Given the description of an element on the screen output the (x, y) to click on. 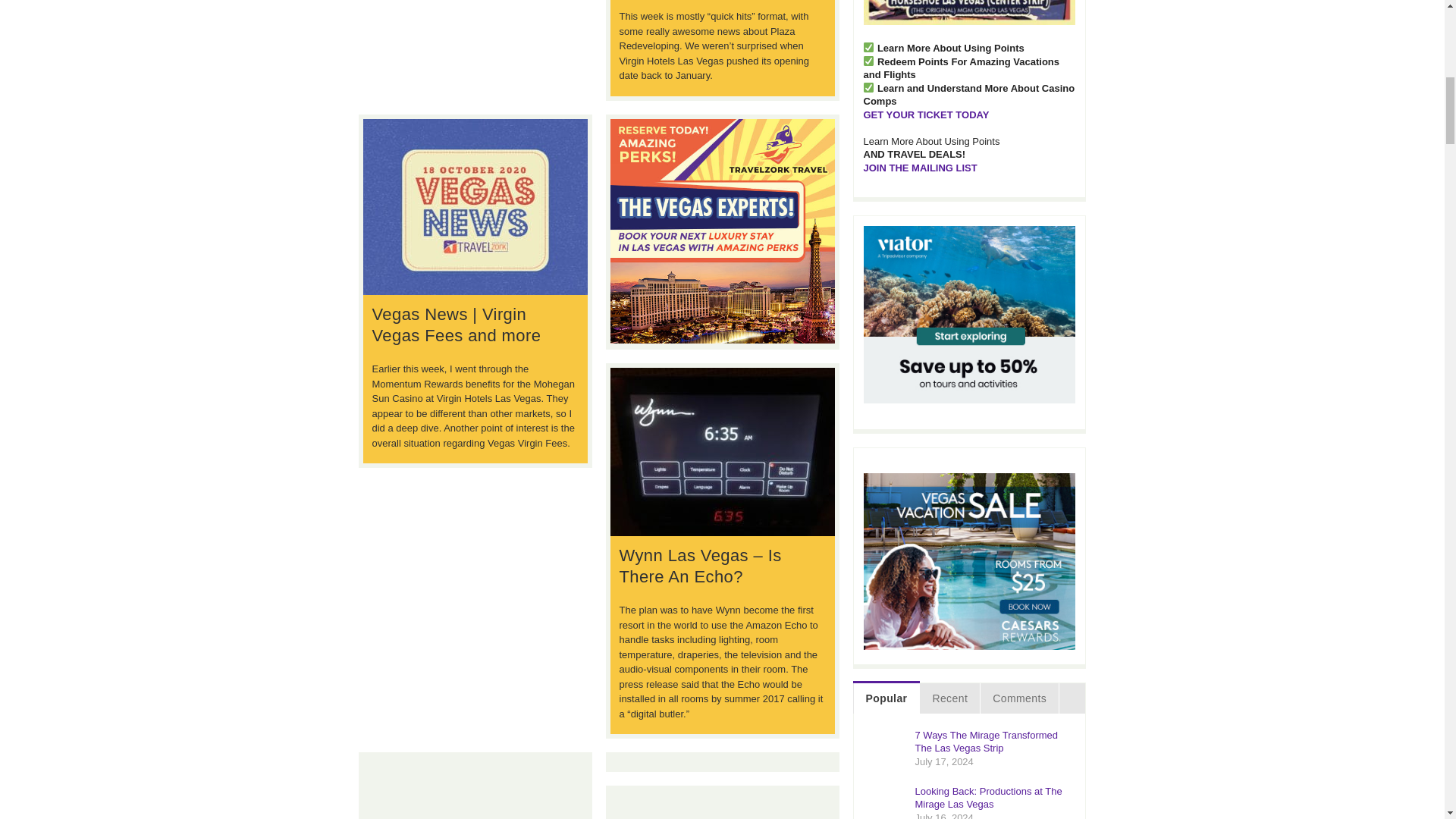
GET YOUR TICKET TODAY (925, 114)
JOIN THE MAILING LIST (919, 167)
